Given the description of an element on the screen output the (x, y) to click on. 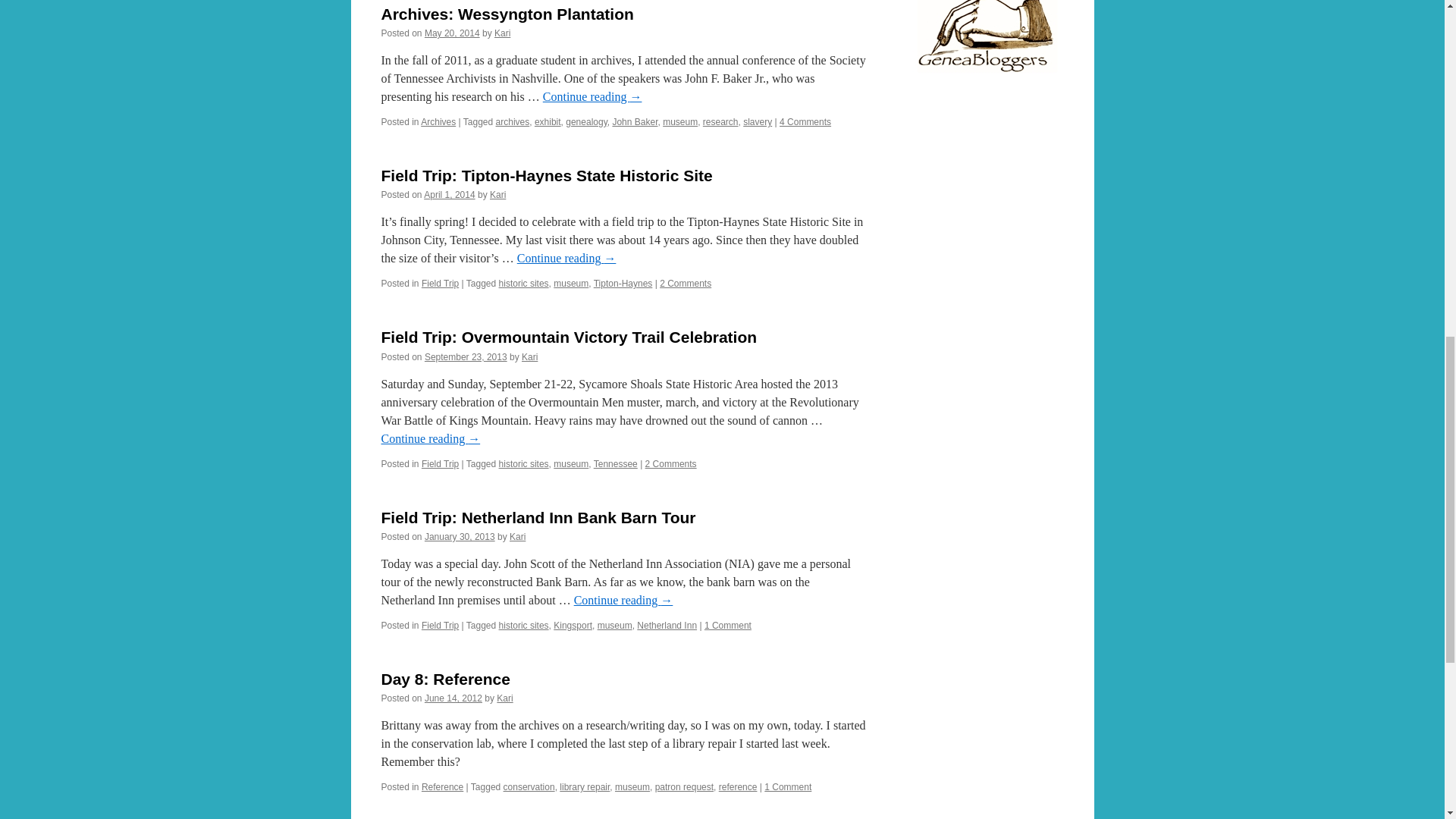
View all posts by Kari (517, 536)
8:08 am (465, 357)
View all posts by Kari (529, 357)
8:47 am (448, 194)
View all posts by Kari (503, 32)
View all posts by Kari (497, 194)
9:34 pm (460, 536)
11:12 am (452, 32)
